Given the description of an element on the screen output the (x, y) to click on. 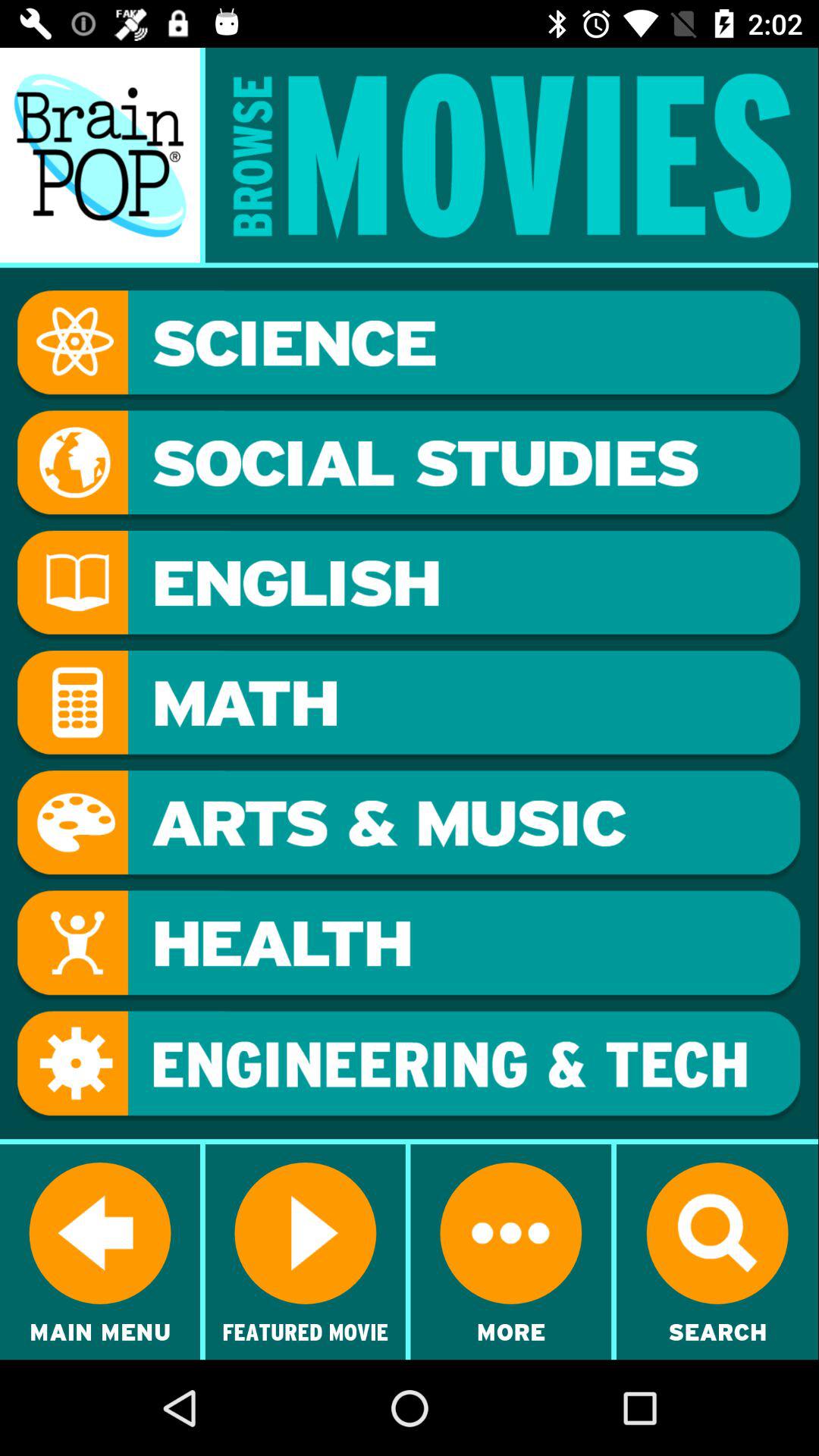
open up the section (408, 1066)
